Given the description of an element on the screen output the (x, y) to click on. 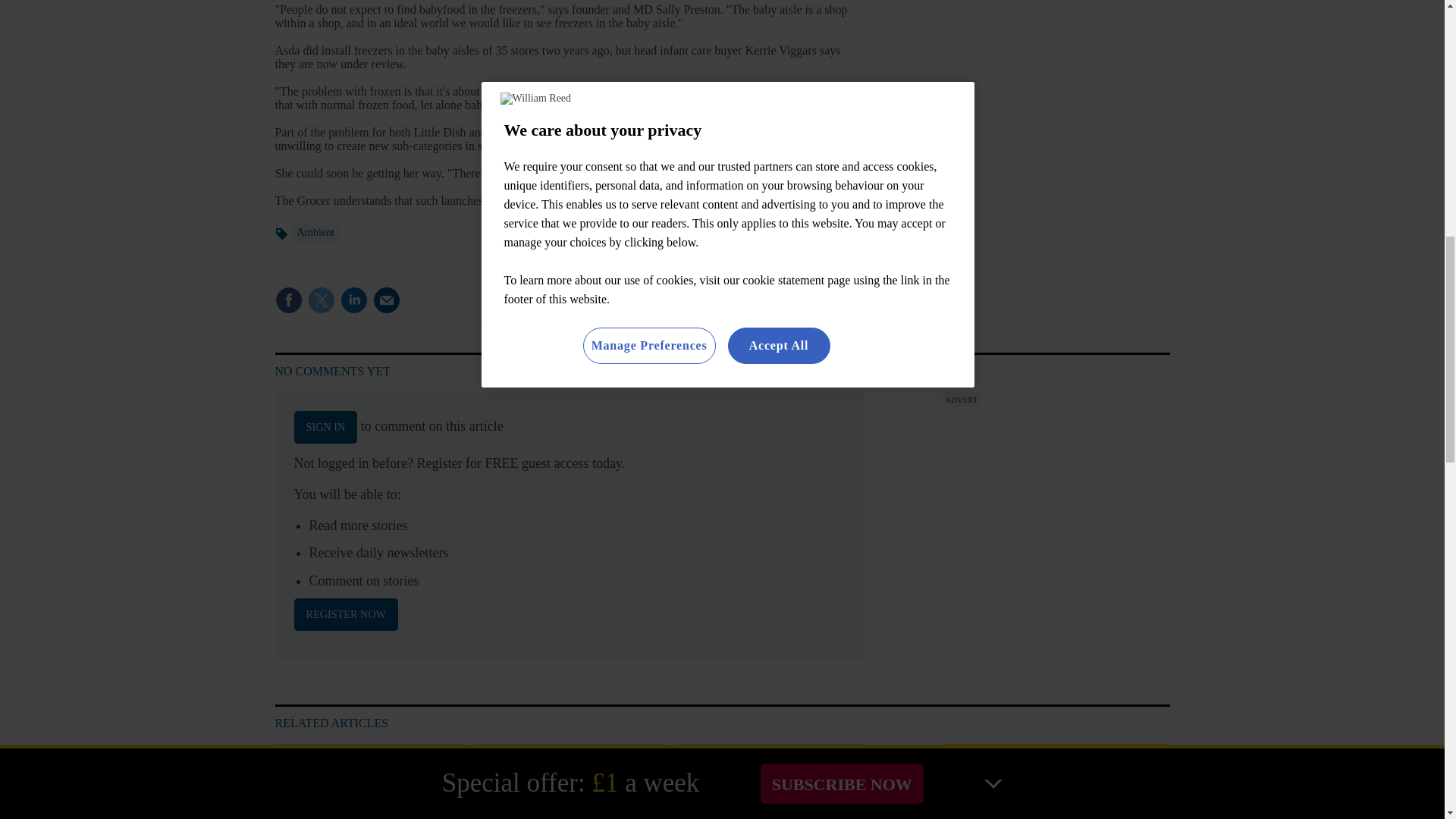
No comments (812, 309)
Email this article (386, 299)
Share this on Linked in (352, 299)
Share this on Facebook (288, 299)
Share this on Twitter (320, 299)
